Given the description of an element on the screen output the (x, y) to click on. 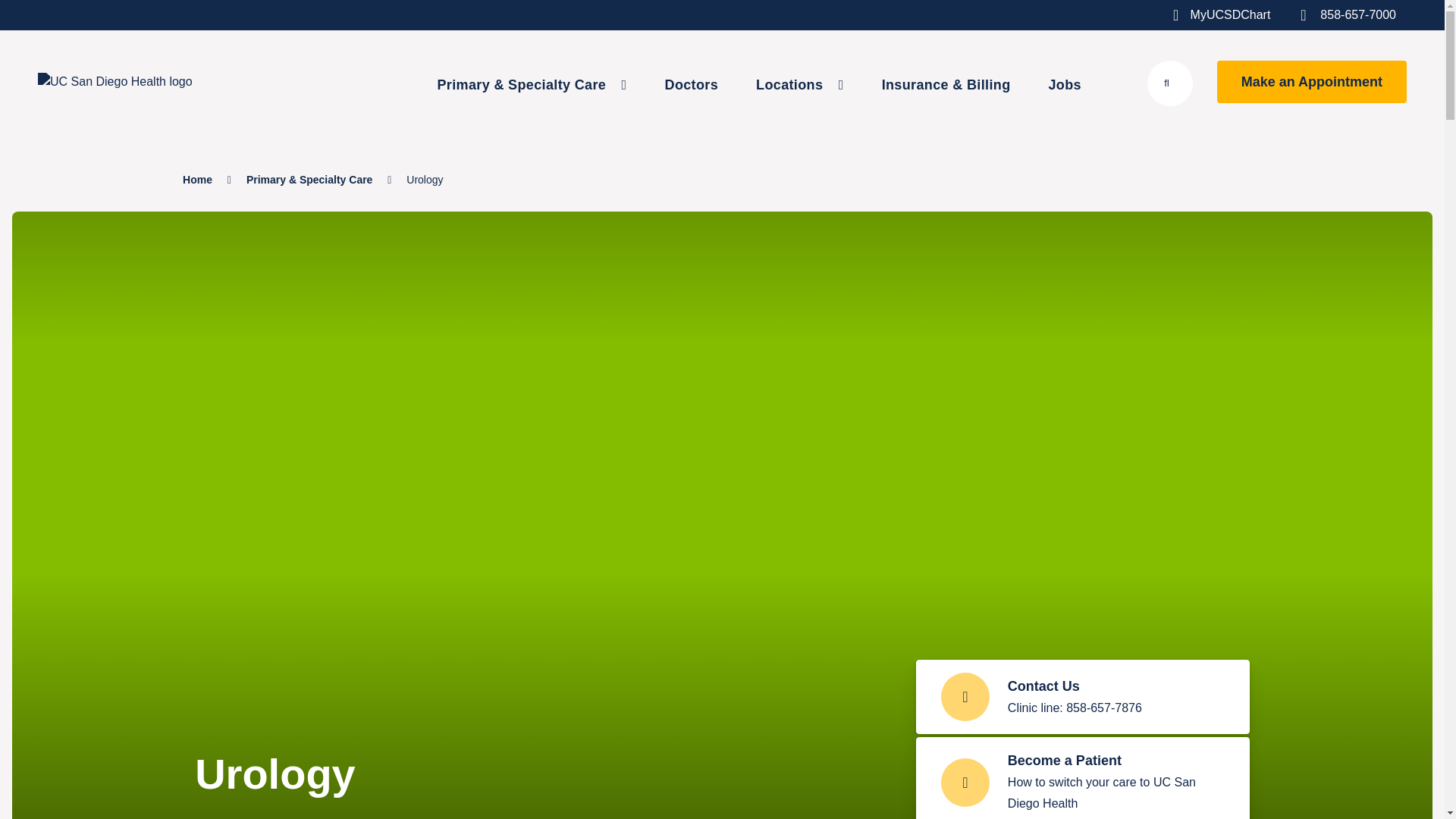
MyUCSDChart (1246, 14)
MyUCSDChart (1246, 14)
image UC San Diego Health logo (215, 81)
858-657-7000 (1373, 14)
Contact Us Clinic line: 858-657-7876 (1082, 696)
Doctors (692, 84)
Make an Appointment (1311, 81)
858-657-7000 (1373, 14)
Locations (799, 84)
